Given the description of an element on the screen output the (x, y) to click on. 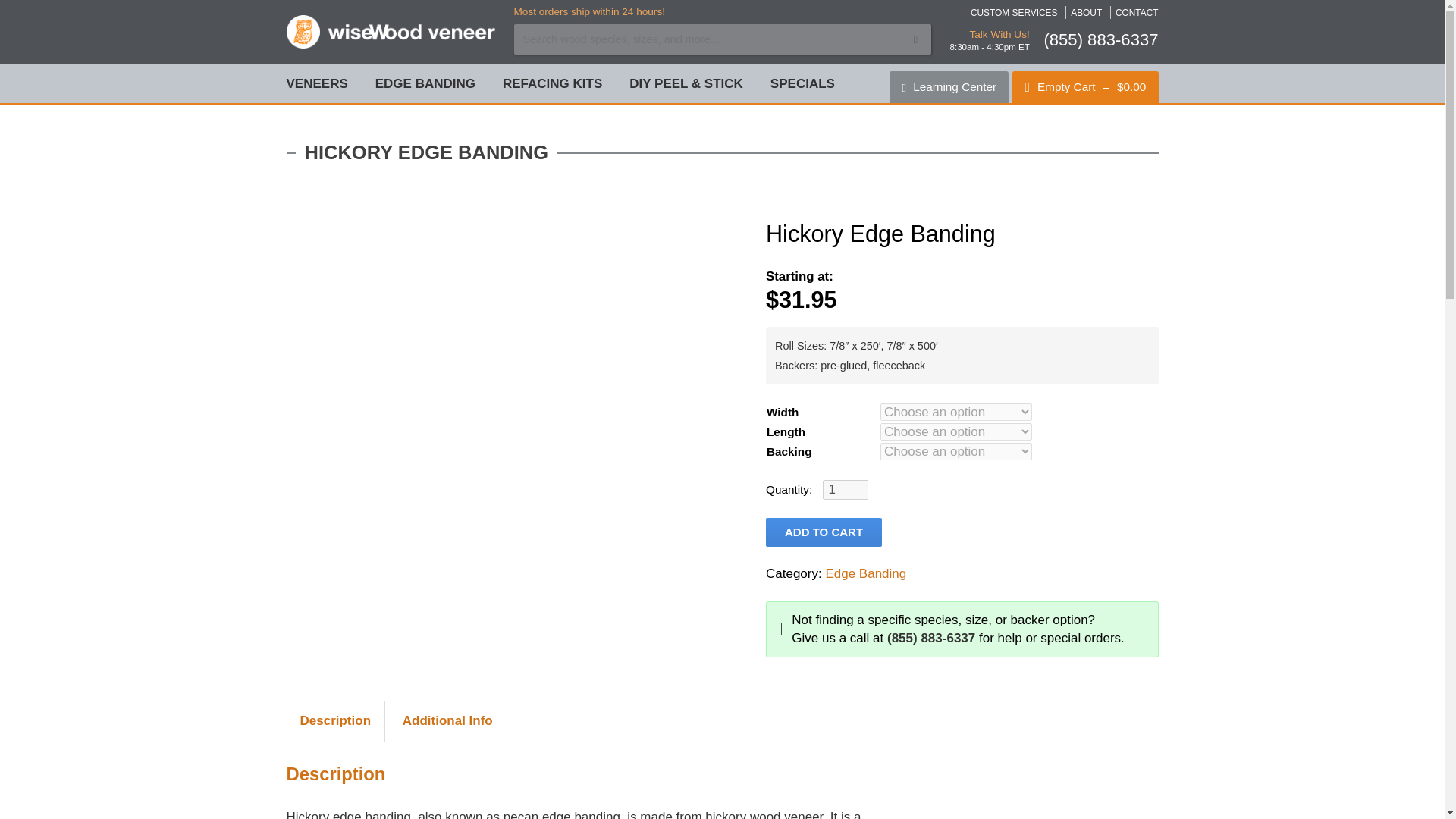
1 (844, 489)
Search for: (722, 39)
Qty (844, 489)
CUSTOM SERVICES (1014, 12)
CONTACT (1136, 12)
ABOUT (1085, 12)
VENEERS (317, 83)
